Given the description of an element on the screen output the (x, y) to click on. 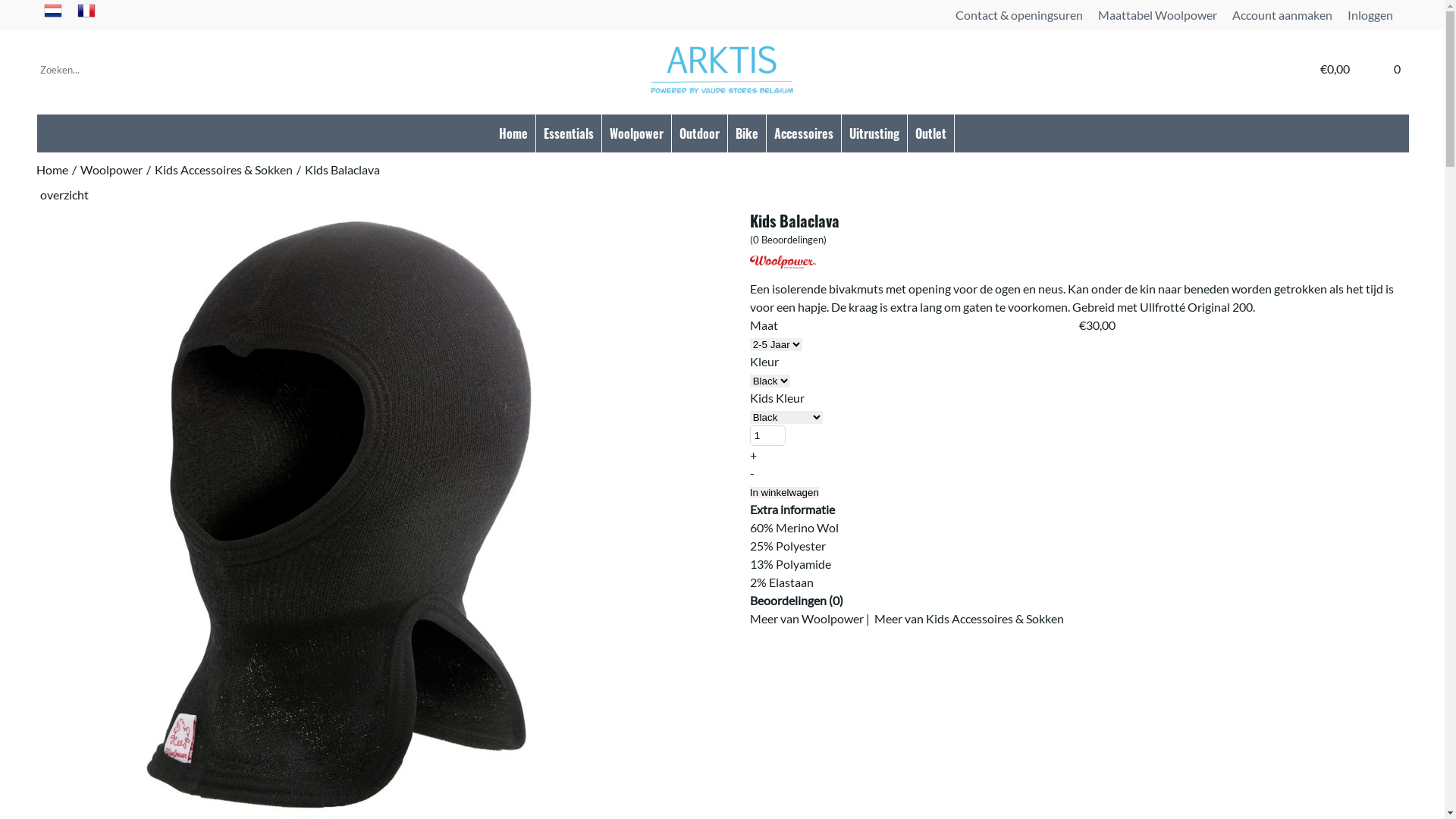
Woolpower Element type: hover (782, 261)
Home Element type: text (513, 133)
Woolpower Element type: text (636, 133)
0 Element type: text (1397, 68)
Vorige Element type: hover (1397, 193)
Nederlands Element type: hover (52, 14)
(0 Beoordelingen) Element type: text (787, 238)
Contact & openingsuren Element type: text (1018, 14)
Meer van Woolpower Element type: text (806, 618)
Woolpower Element type: hover (782, 270)
overzicht Element type: text (64, 194)
Account aanmaken Element type: text (1282, 14)
In winkelwagen Element type: text (784, 492)
Uitrusting Element type: text (873, 133)
Volgende Element type: hover (1405, 193)
Essentials Element type: text (568, 133)
Outdoor Element type: text (699, 133)
Kids Balaclava Element type: hover (339, 514)
Inloggen Element type: text (1370, 14)
Home Element type: text (52, 171)
Maattabel Woolpower Element type: text (1157, 14)
Woolpower Element type: text (111, 171)
Outlet Element type: text (930, 133)
Accessoires Element type: text (803, 133)
Kids Accessoires & Sokken Element type: text (223, 171)
Bike Element type: text (746, 133)
Meer van Kids Accessoires & Sokken Element type: text (968, 618)
Kids Balaclava Element type: text (341, 171)
